Given the description of an element on the screen output the (x, y) to click on. 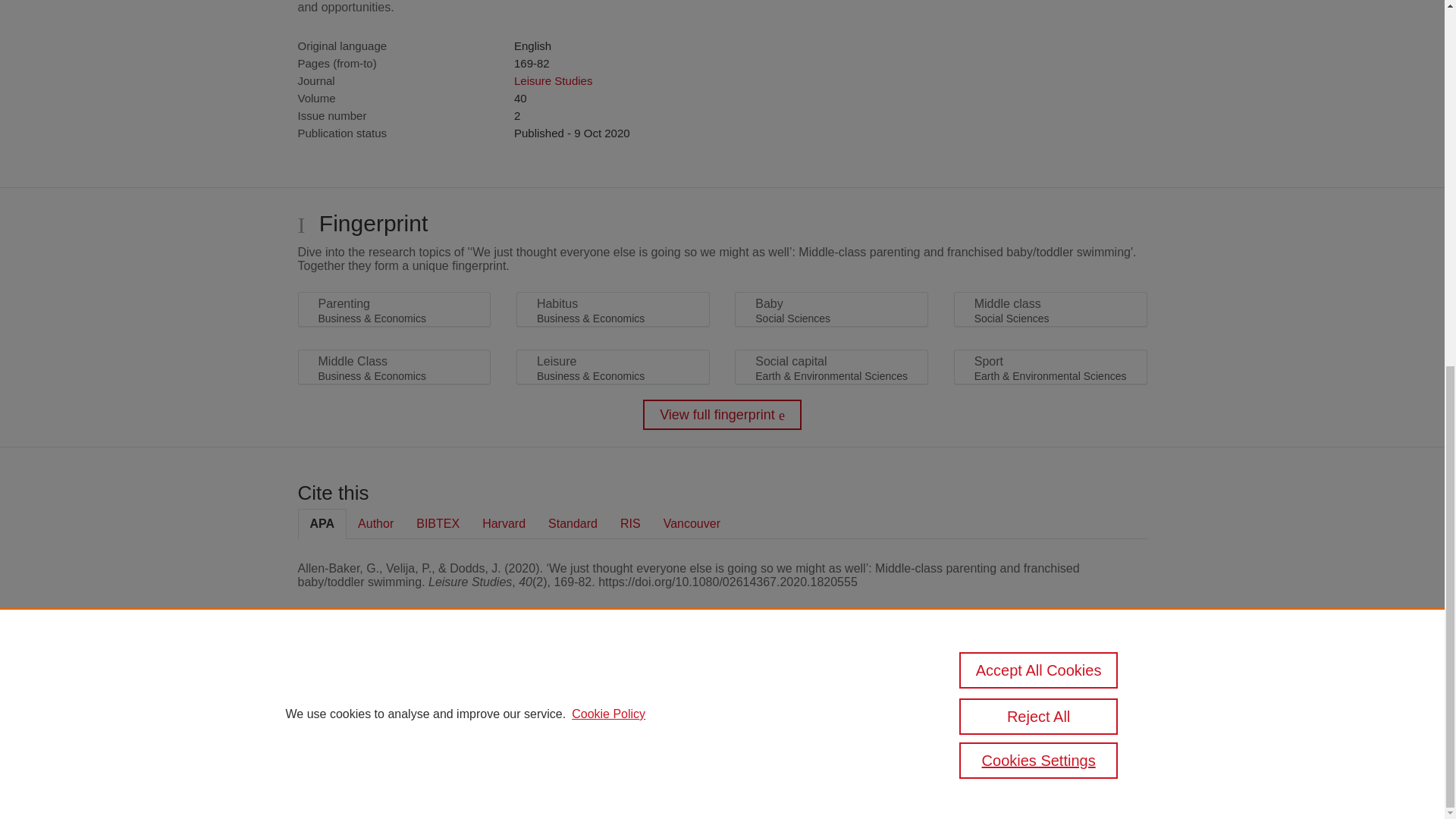
Contact us (1122, 693)
Scopus (394, 687)
Solent University data protection policy (1008, 693)
Cookies Settings (334, 761)
Cookie Policy (608, 54)
Leisure Studies (552, 80)
use of cookies (796, 740)
Pure (362, 687)
About web accessibility (1011, 719)
View full fingerprint (722, 414)
